Given the description of an element on the screen output the (x, y) to click on. 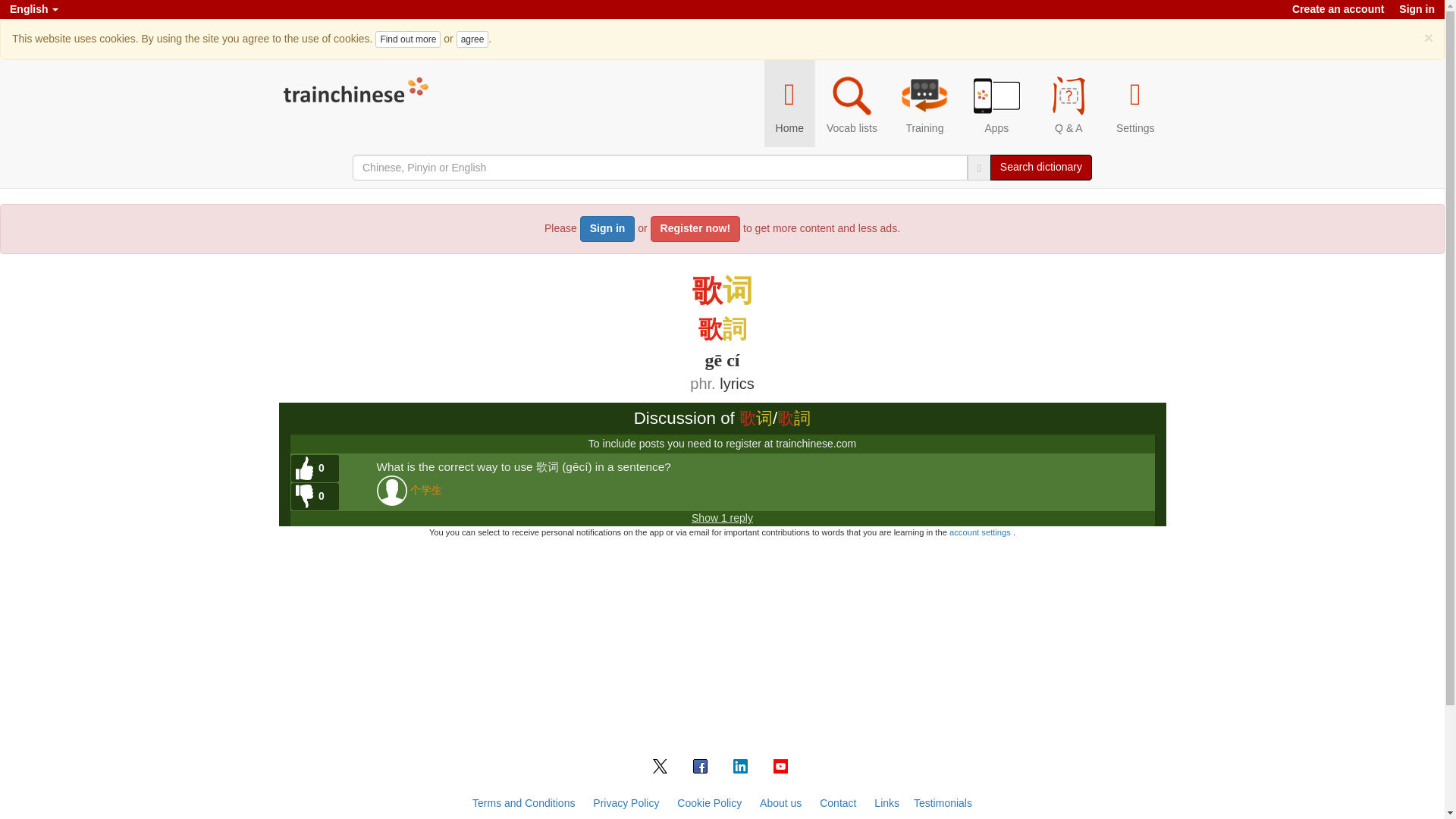
Sign in (606, 228)
Bewerte dies hoch (315, 468)
Register now! (695, 228)
Find out more (408, 39)
agree (473, 39)
account settings (981, 532)
English (34, 9)
Author (425, 490)
Create an account (1337, 9)
Bewerte dies nach unten (315, 496)
